Given the description of an element on the screen output the (x, y) to click on. 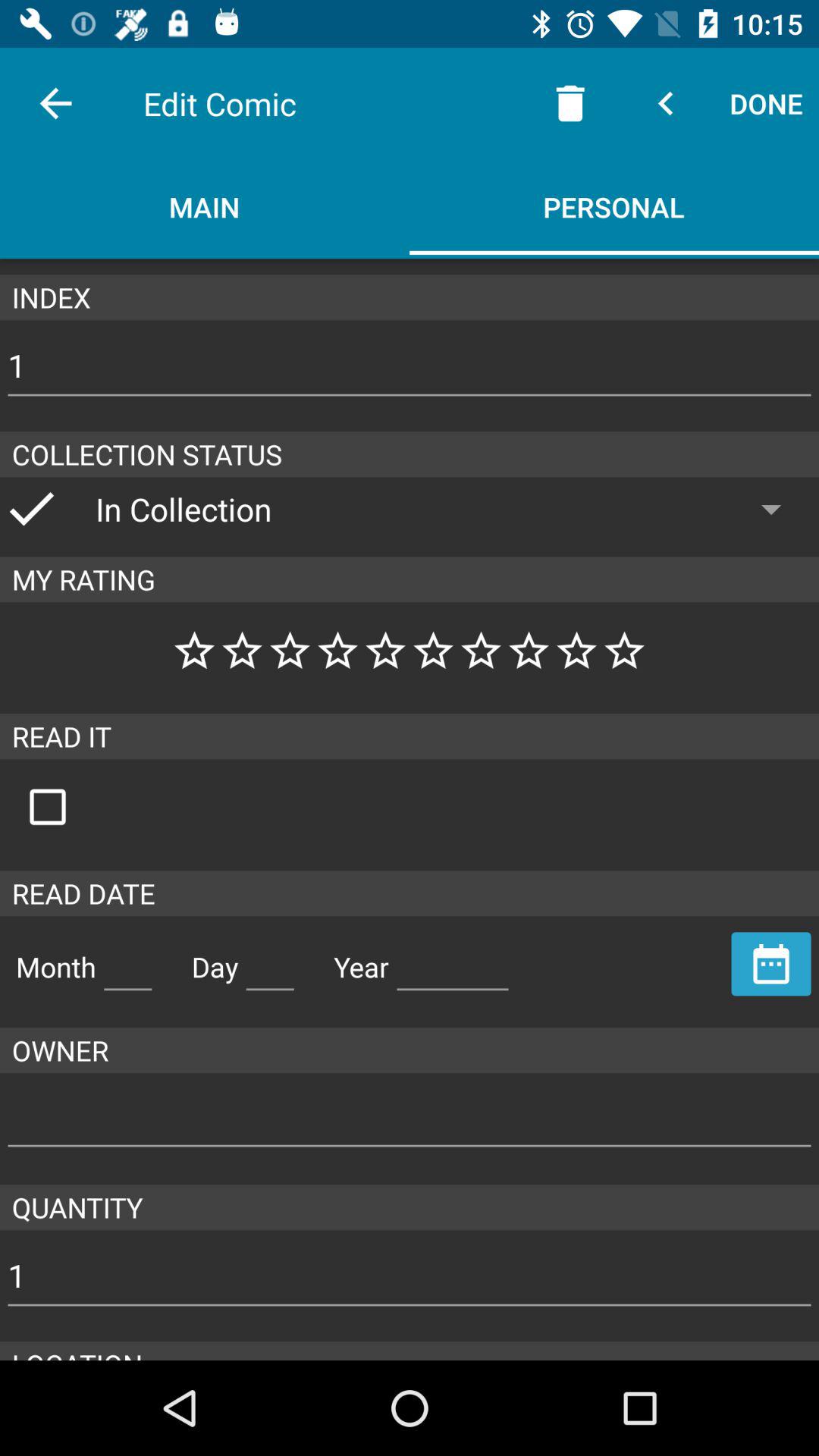
month (127, 961)
